Given the description of an element on the screen output the (x, y) to click on. 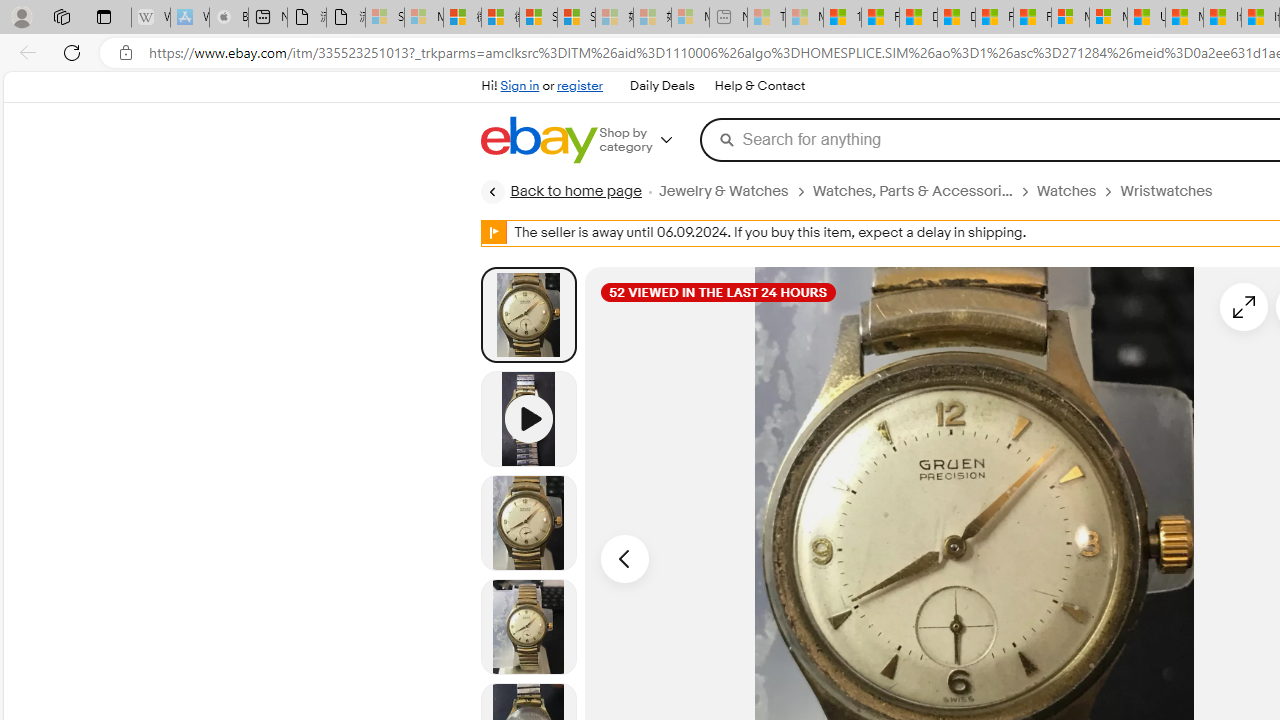
Jewelry & Watches (722, 191)
Food and Drink - MSN (879, 17)
Daily Deals (661, 85)
Marine life - MSN - Sleeping (804, 17)
Help & Contact (760, 86)
eBay Home (538, 139)
Picture 3 of 13 (528, 625)
Top Stories - MSN - Sleeping (765, 17)
